Given the description of an element on the screen output the (x, y) to click on. 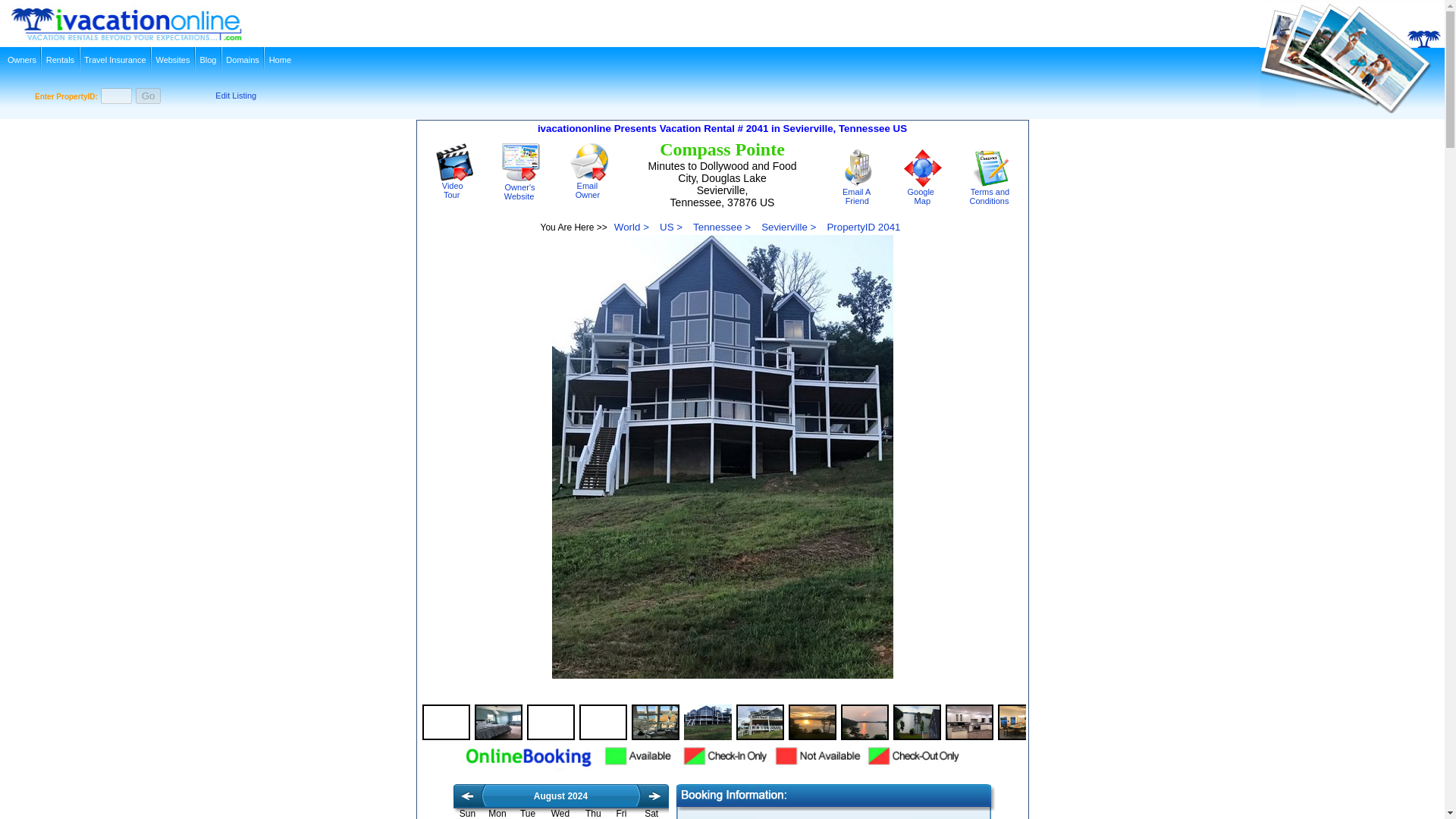
Video Tour (589, 186)
Owners (454, 161)
Blog (21, 59)
Home (454, 186)
Email A Friend (207, 59)
PropertyID 2041 (988, 192)
Domains (280, 59)
Terms and Conditions (858, 168)
Owner's Website (863, 226)
Go (521, 186)
